Given the description of an element on the screen output the (x, y) to click on. 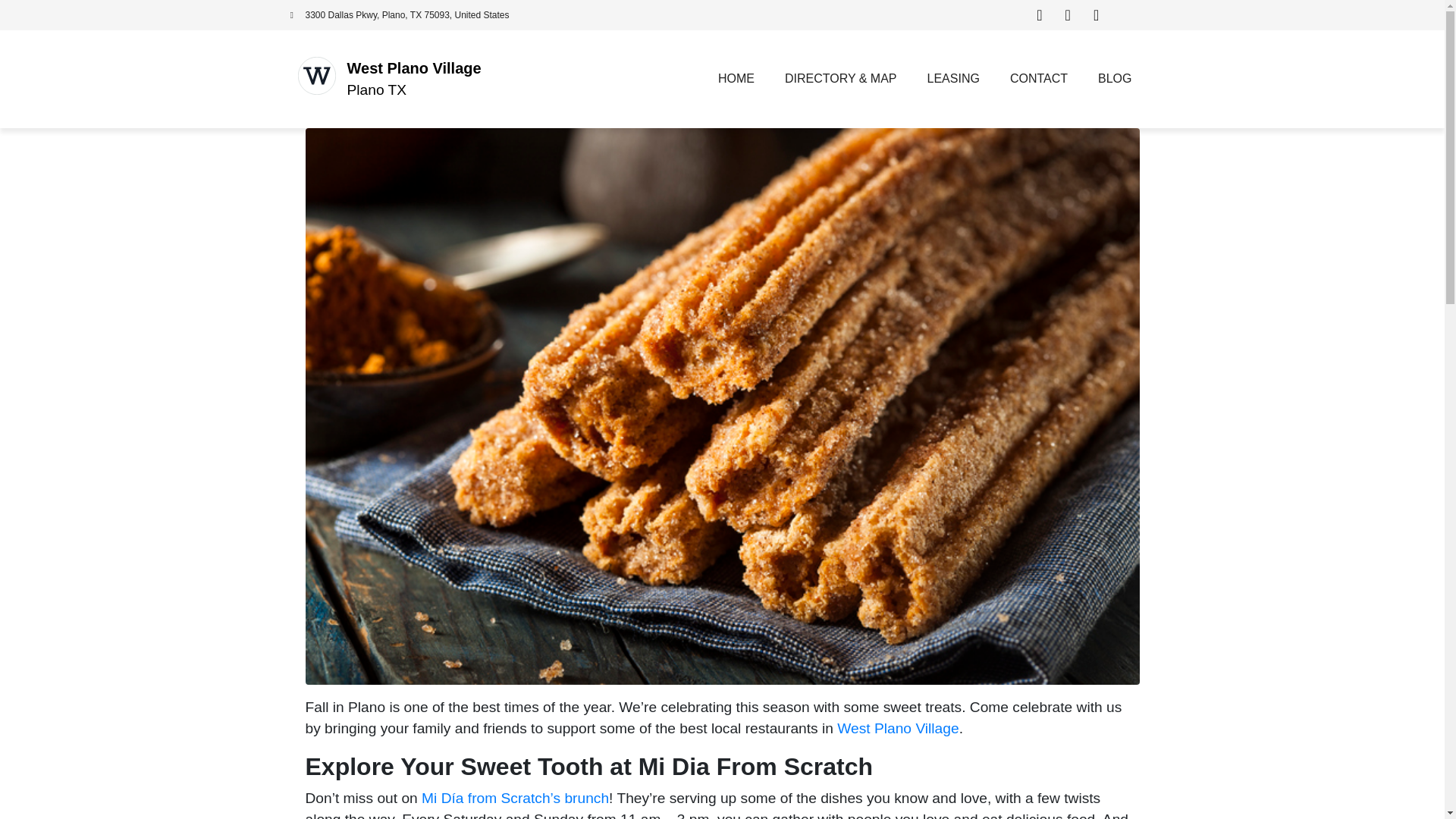
West Plano Village (897, 728)
CONTACT (1038, 78)
LEASING (953, 78)
BLOG (1115, 78)
West Plano Village (414, 67)
HOME (736, 78)
